Given the description of an element on the screen output the (x, y) to click on. 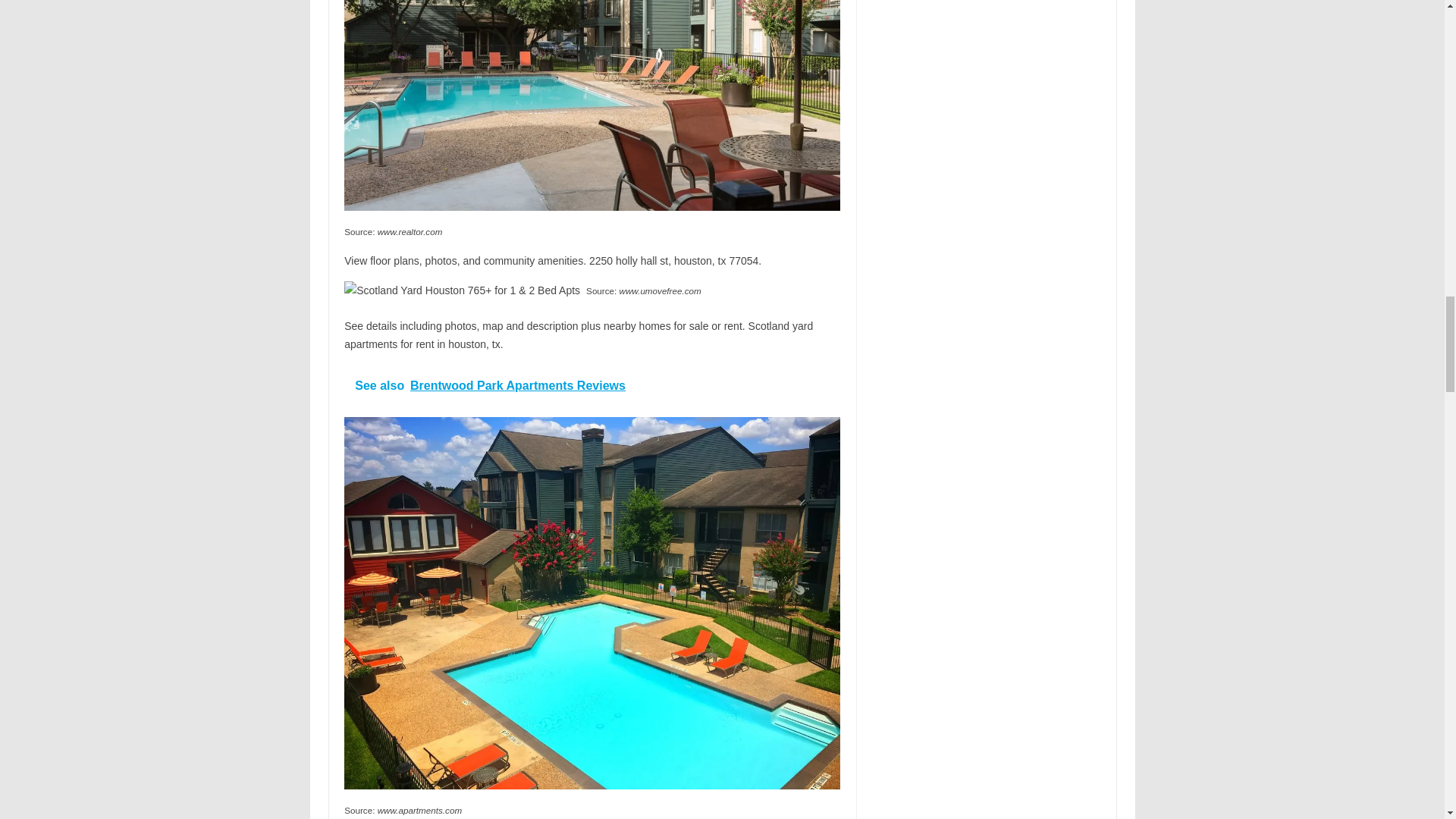
See also  Brentwood Park Apartments Reviews (591, 385)
